Given the description of an element on the screen output the (x, y) to click on. 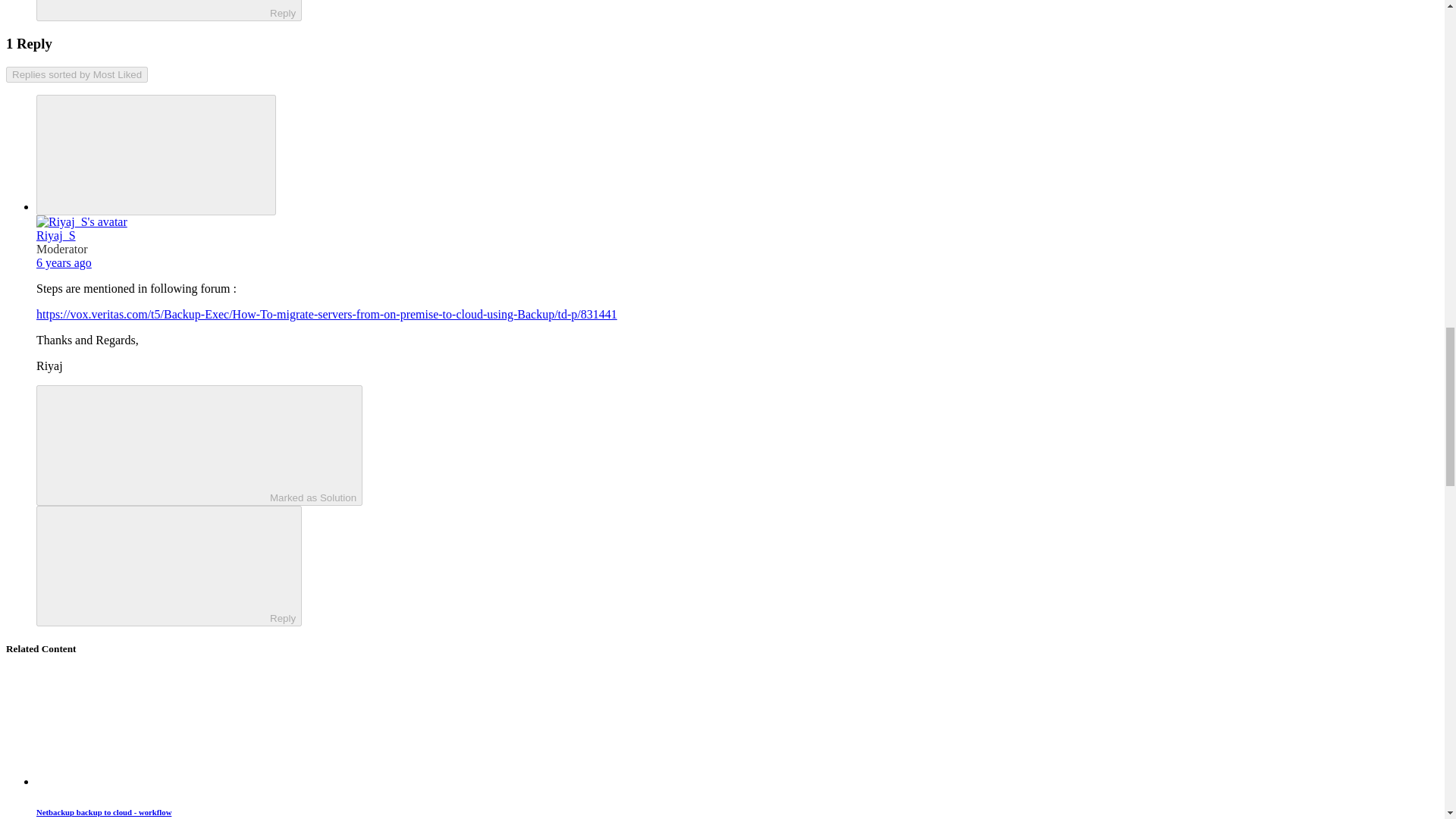
Netbackup backup to cloud - workflow (103, 811)
Replies sorted by Most Liked (76, 74)
ReplyReply (168, 10)
Reply (155, 564)
Marked as Solution (199, 445)
ReplyReply (168, 566)
September 19, 2018 at 7:55 AM (63, 262)
Reply (155, 8)
6 years ago (63, 262)
